Given the description of an element on the screen output the (x, y) to click on. 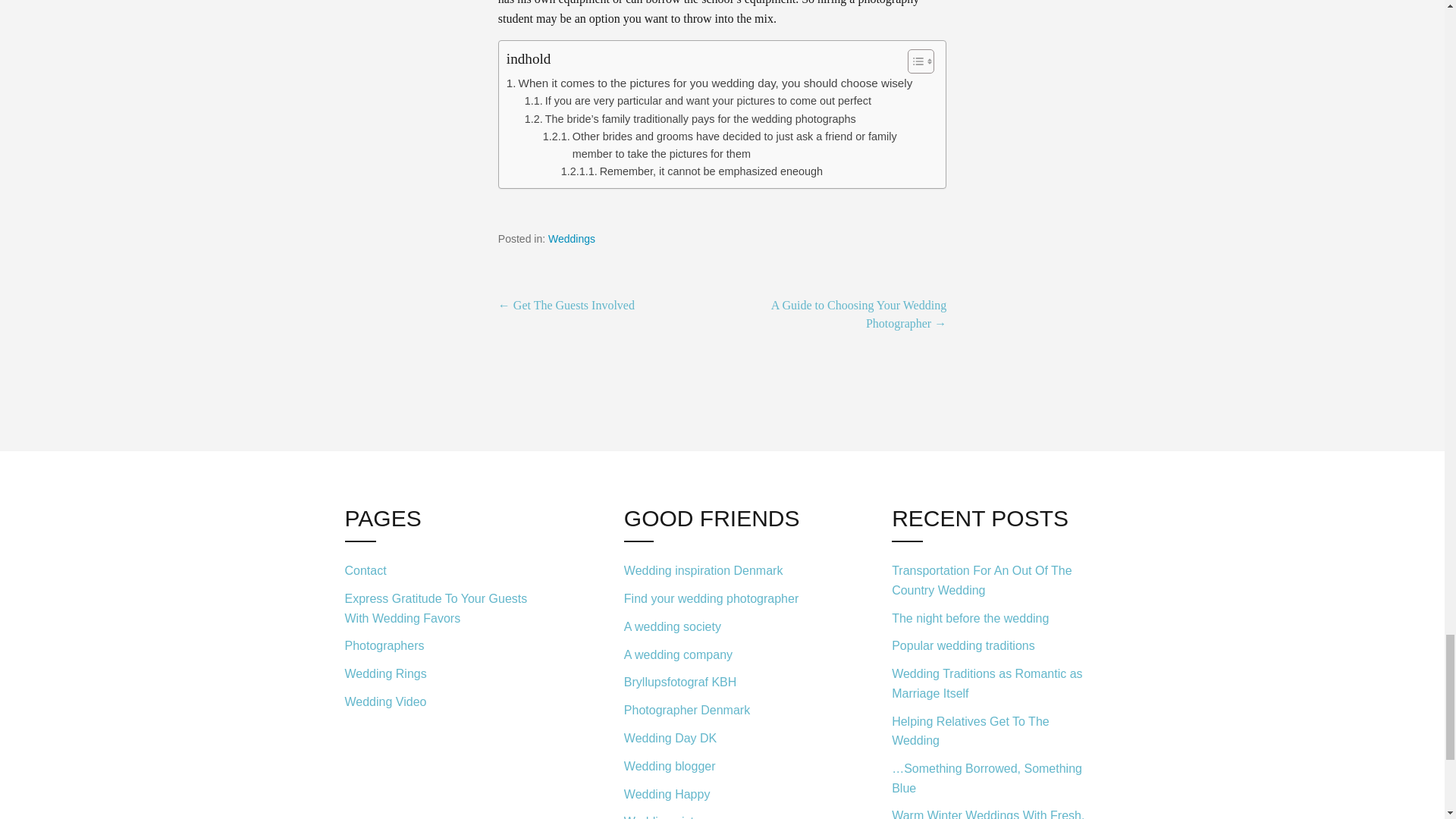
Remember, it cannot be emphasized eneough (691, 171)
Bryllupsfotograf KBH (722, 682)
Weddings (571, 238)
Photographers (447, 646)
Contact (447, 571)
Wedding blogger (722, 766)
Photographer Denmark (722, 710)
Remember, it cannot be emphasized eneough (691, 171)
A wedding society (722, 626)
Find your wedding photographer (722, 599)
Wedding Video (447, 699)
